Given the description of an element on the screen output the (x, y) to click on. 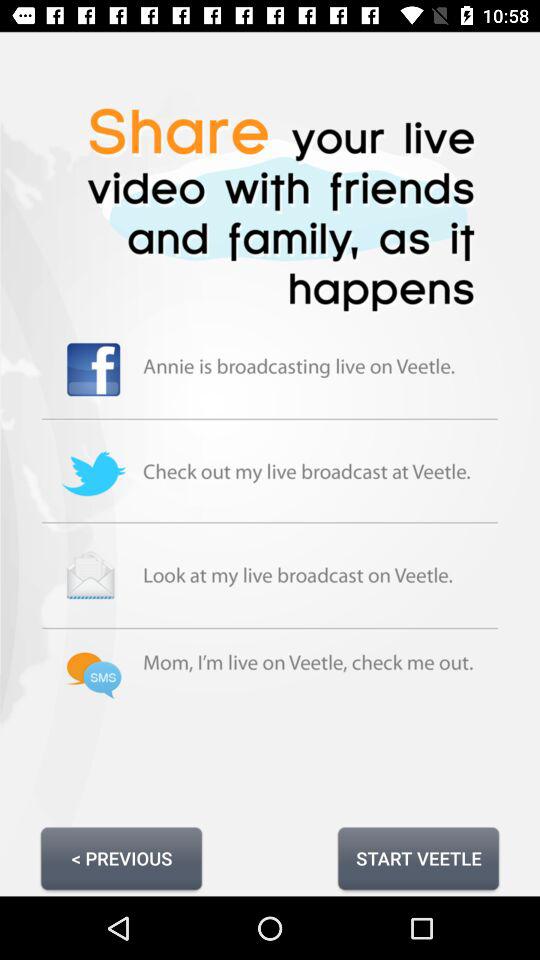
launch icon at the bottom left corner (121, 858)
